Given the description of an element on the screen output the (x, y) to click on. 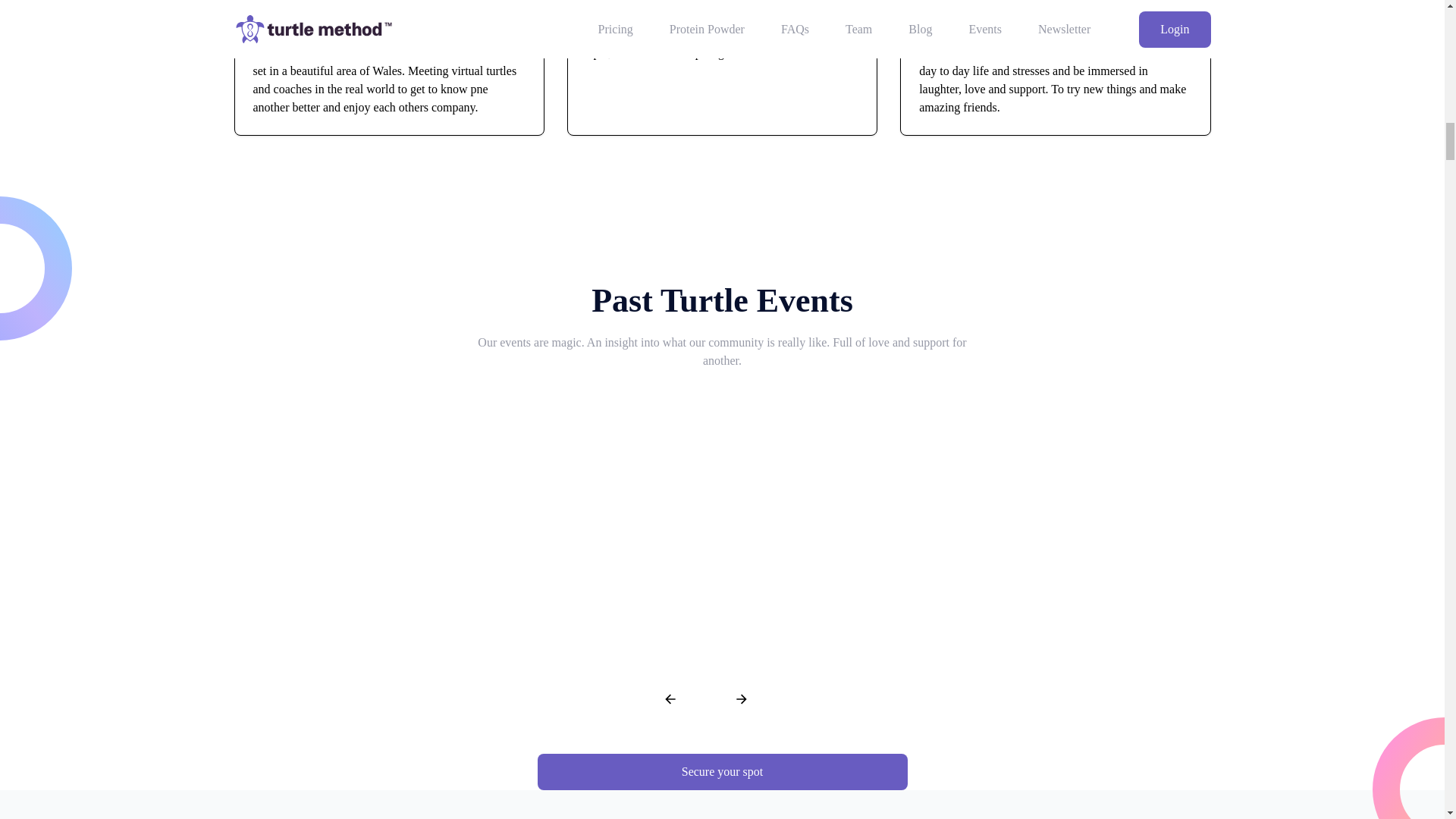
Secure your spot (722, 771)
Vimeo (1058, 522)
Vimeo (722, 522)
Vimeo (385, 522)
